Given the description of an element on the screen output the (x, y) to click on. 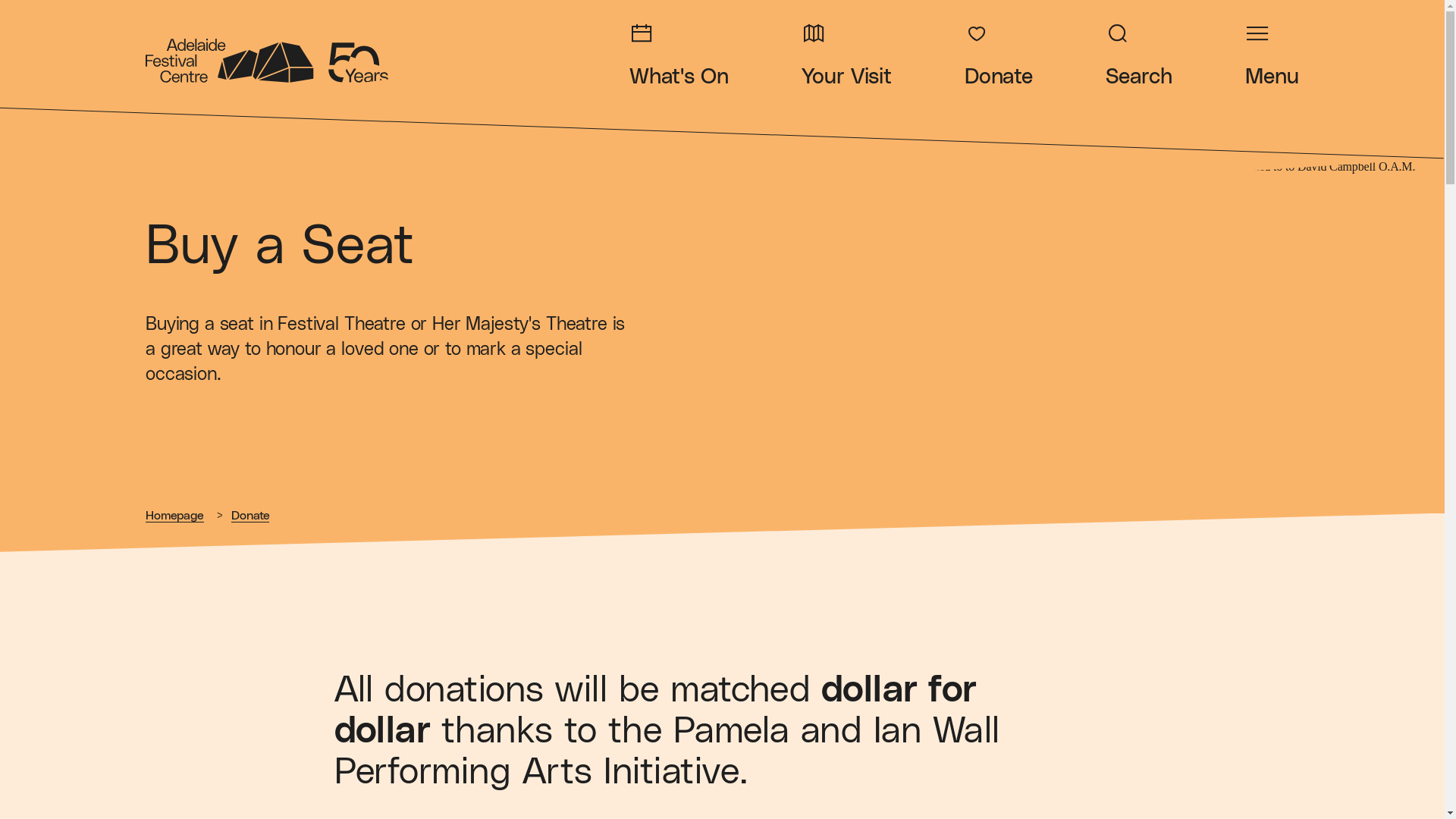
Donate Element type: text (998, 54)
Donate Element type: text (250, 515)
Search Element type: text (1138, 54)
Your Visit Element type: text (845, 54)
What's On Element type: text (678, 54)
Menu Element type: text (1272, 54)
Homepage Element type: text (174, 515)
